Given the description of an element on the screen output the (x, y) to click on. 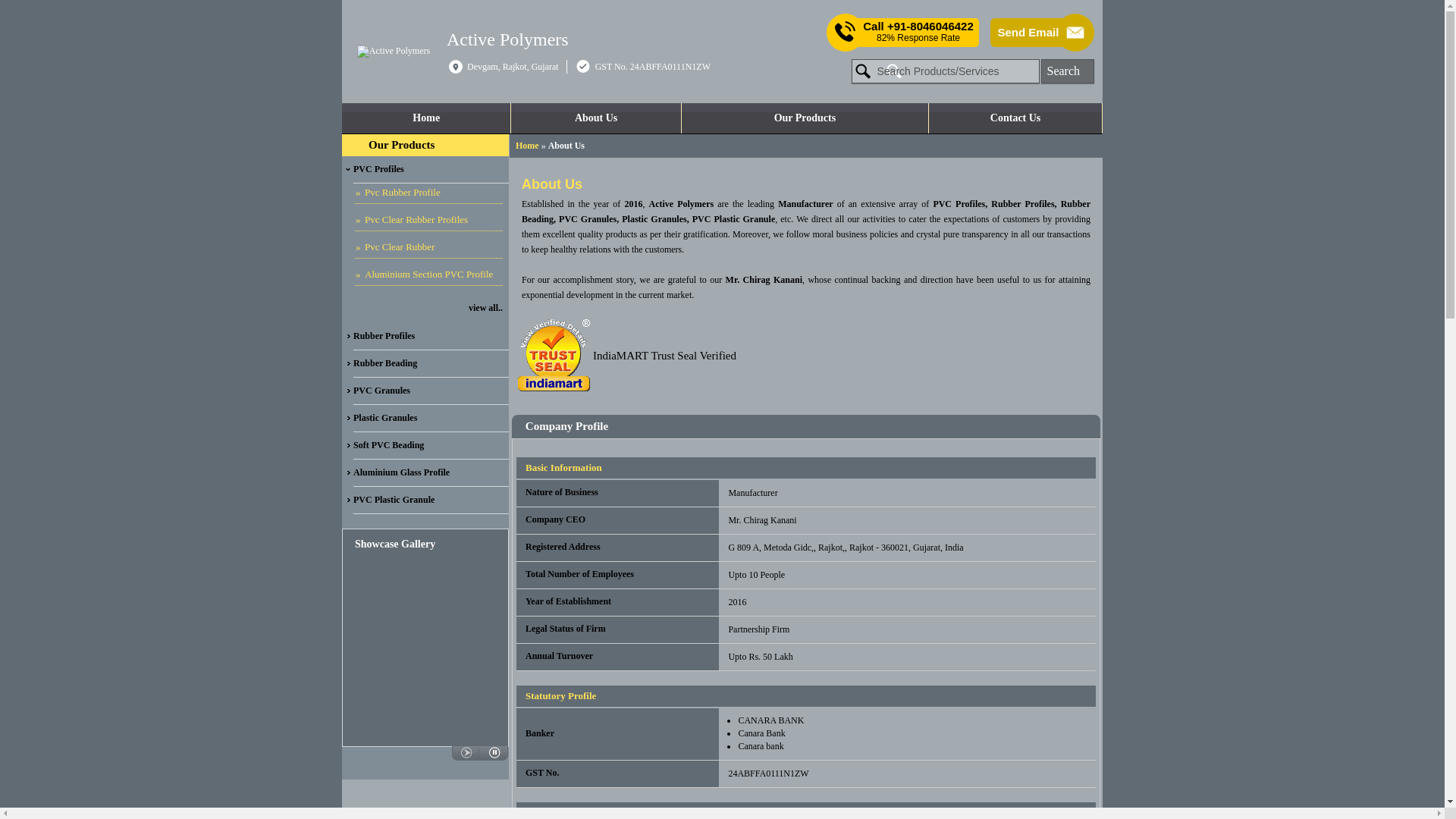
Pvc Clear Rubber Profiles (428, 220)
PVC Plastic Granule (430, 500)
Rubber Beading (430, 363)
About Us (595, 118)
Contact Us (1015, 118)
PVC Granules (430, 390)
Plastic Granules (430, 418)
Pvc Rubber Profile (428, 193)
Home (526, 145)
Our Products (400, 144)
Our Products (804, 118)
Rubber Profiles (430, 336)
Pvc Clear Rubber (428, 248)
Send SMS Free (917, 32)
PVC Profiles (430, 169)
